Given the description of an element on the screen output the (x, y) to click on. 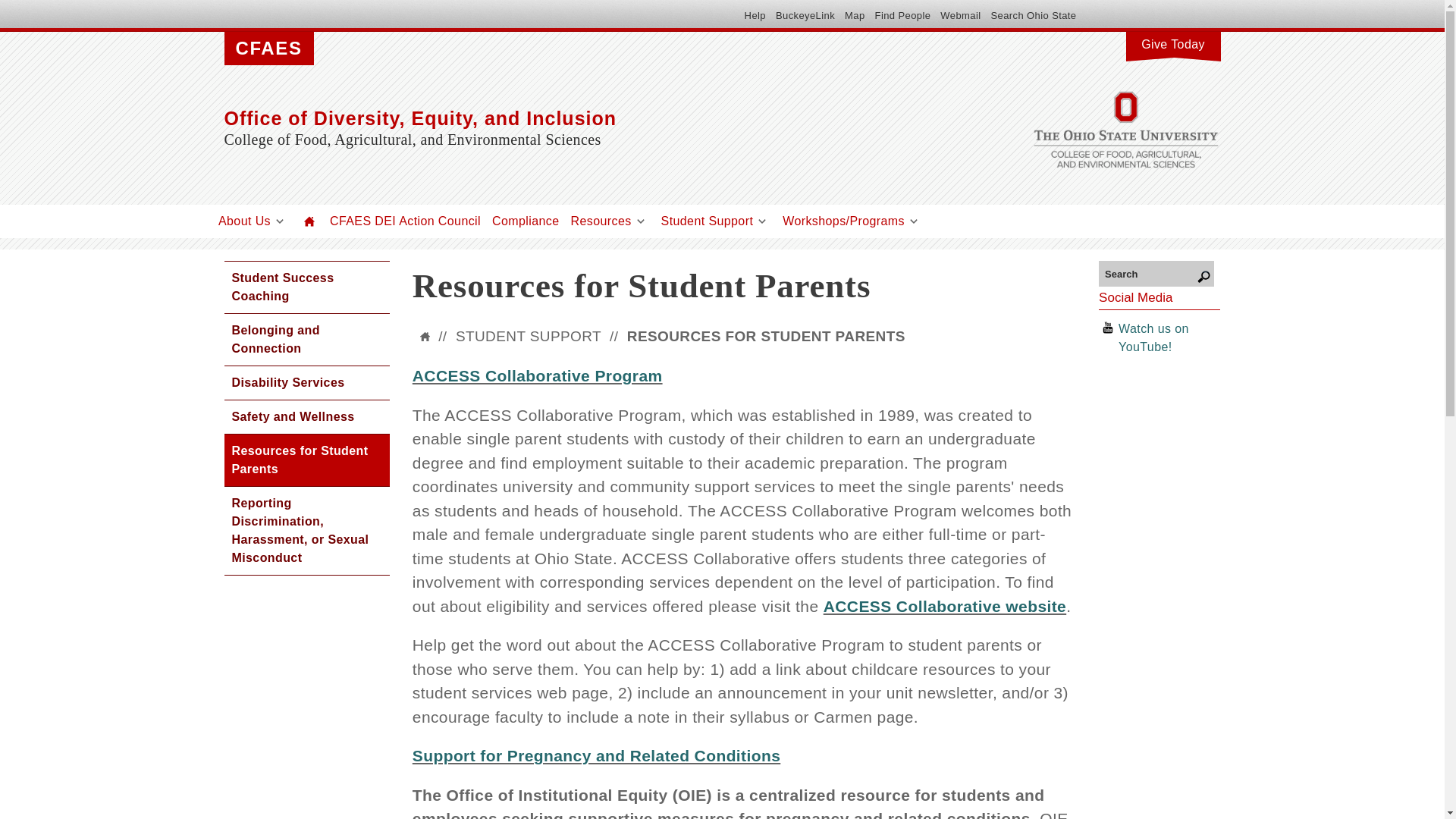
Home (572, 117)
Map (854, 15)
Find People (903, 15)
About Us (244, 221)
Office of Diversity, Equity, and Inclusion (572, 117)
Compliance (525, 221)
CFAES (269, 48)
Search (1155, 273)
BuckeyeLink (805, 15)
Help (754, 15)
CFAES DEI Action Council (405, 221)
Search Ohio State (1032, 15)
Resources (600, 221)
Enter the terms you wish to search for. (1155, 273)
Home (308, 221)
